Given the description of an element on the screen output the (x, y) to click on. 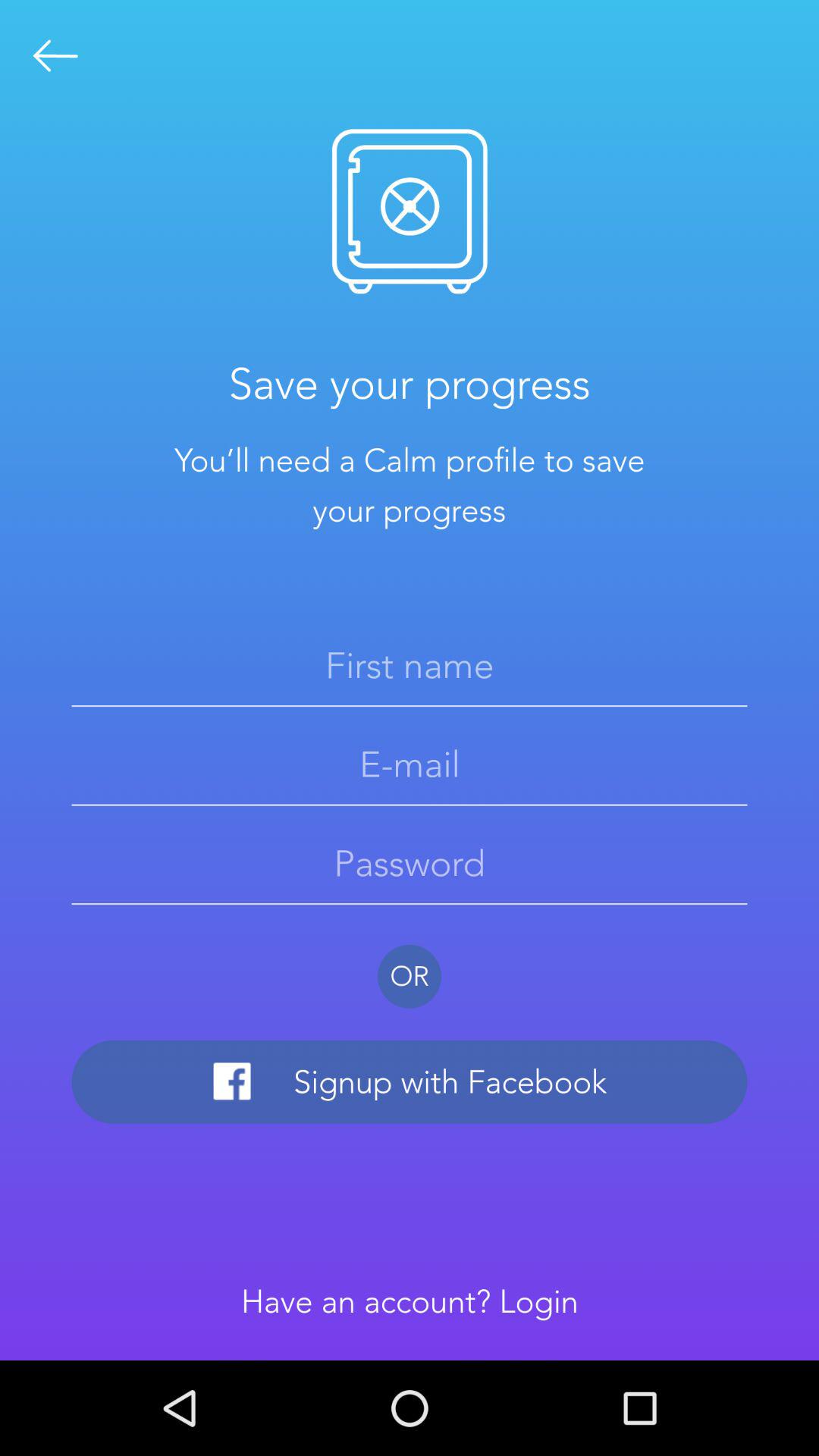
choose the icon below the you ll need (409, 664)
